Given the description of an element on the screen output the (x, y) to click on. 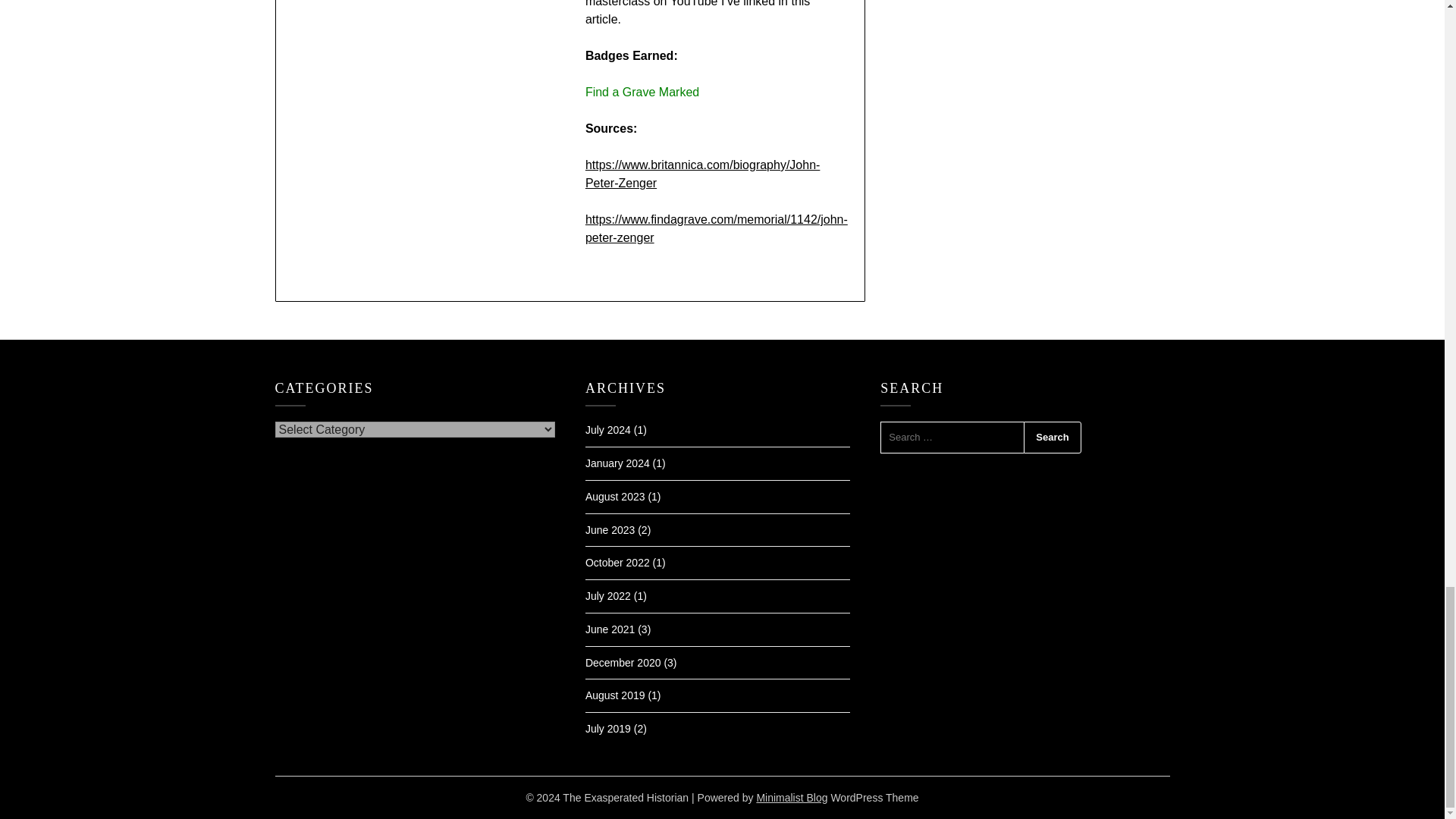
July 2024 (607, 429)
October 2022 (617, 562)
June 2023 (609, 530)
Search (1051, 437)
Minimalist Blog (791, 797)
Search (1051, 437)
December 2020 (623, 662)
July 2022 (607, 595)
June 2021 (609, 629)
January 2024 (617, 463)
Search (1051, 437)
August 2019 (615, 695)
July 2019 (607, 728)
August 2023 (615, 496)
